Given the description of an element on the screen output the (x, y) to click on. 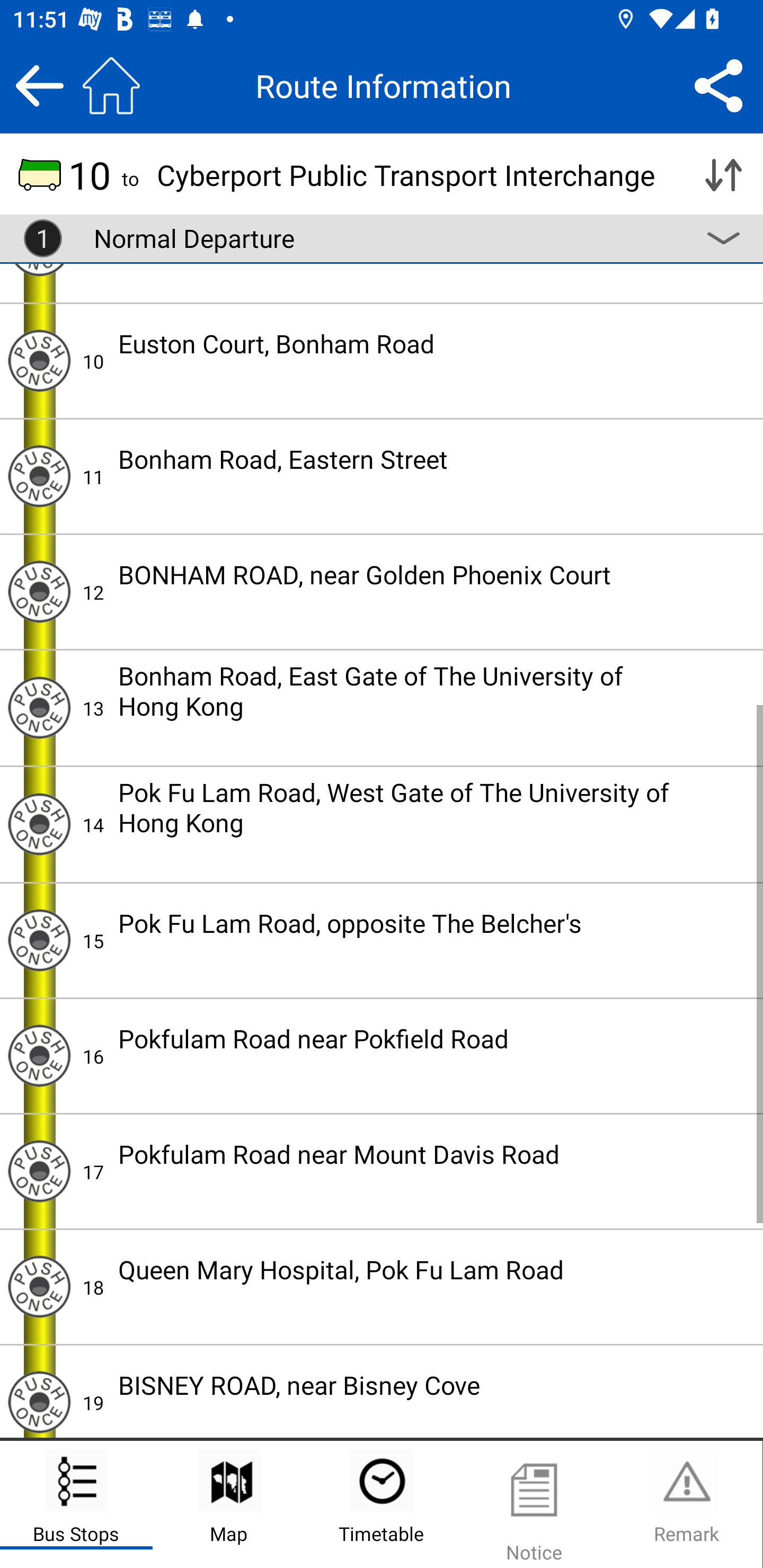
Jump to home page (111, 85)
Share point to point route search criteria) (718, 85)
Back (39, 85)
Reverse direction (723, 174)
Other routes (723, 238)
Alight Reminder (39, 360)
Alight Reminder (39, 475)
Alight Reminder (39, 591)
Alight Reminder (39, 707)
Alight Reminder (39, 823)
Alight Reminder (39, 940)
Alight Reminder (39, 1056)
Alight Reminder (39, 1171)
Alight Reminder (39, 1286)
Alight Reminder (39, 1399)
Bus Stops (76, 1504)
Map (228, 1504)
Timetable (381, 1504)
Notice (533, 1504)
Remark (686, 1504)
